Given the description of an element on the screen output the (x, y) to click on. 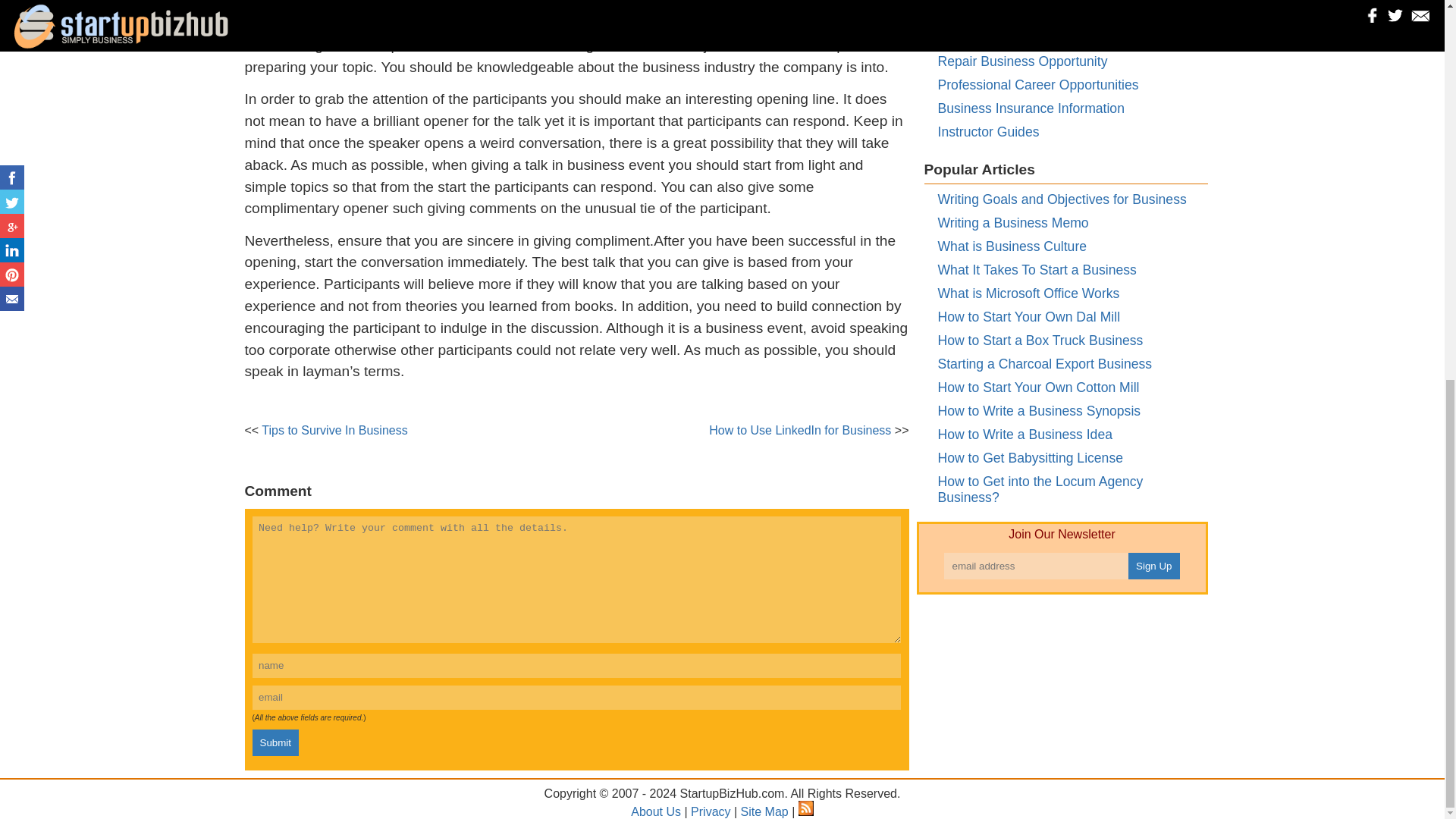
Submit (274, 742)
Tips to Survive In Business (334, 430)
Submit (274, 742)
Sign Up (1153, 565)
Repair Business Opportunity (1021, 61)
Business Marketing and Advertising (1042, 37)
Small Business Articles (1006, 14)
Professional Career Opportunities (1037, 84)
How to Use LinkedIn for Business (800, 430)
